Given the description of an element on the screen output the (x, y) to click on. 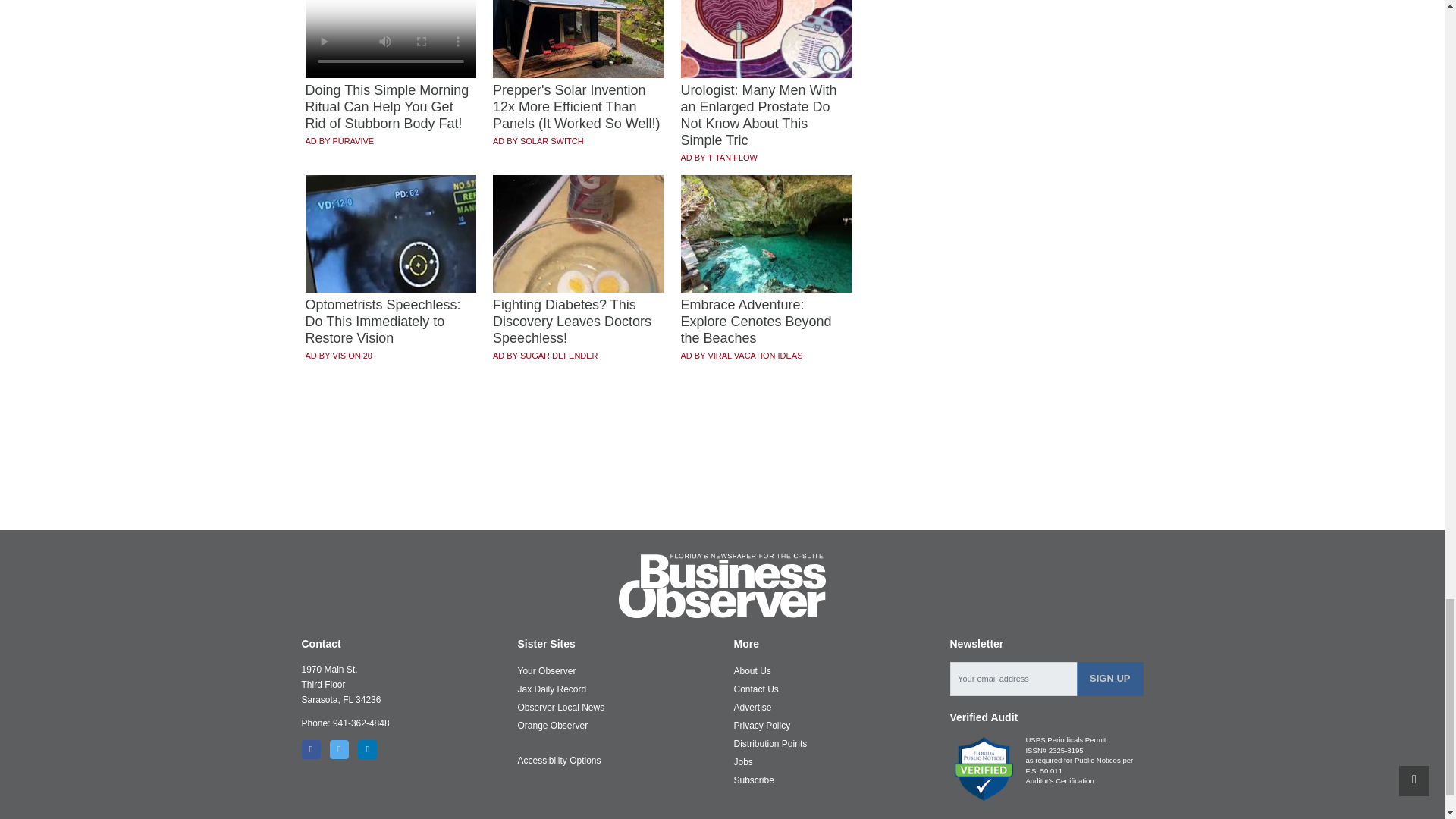
3rd party ad content (722, 474)
